Given the description of an element on the screen output the (x, y) to click on. 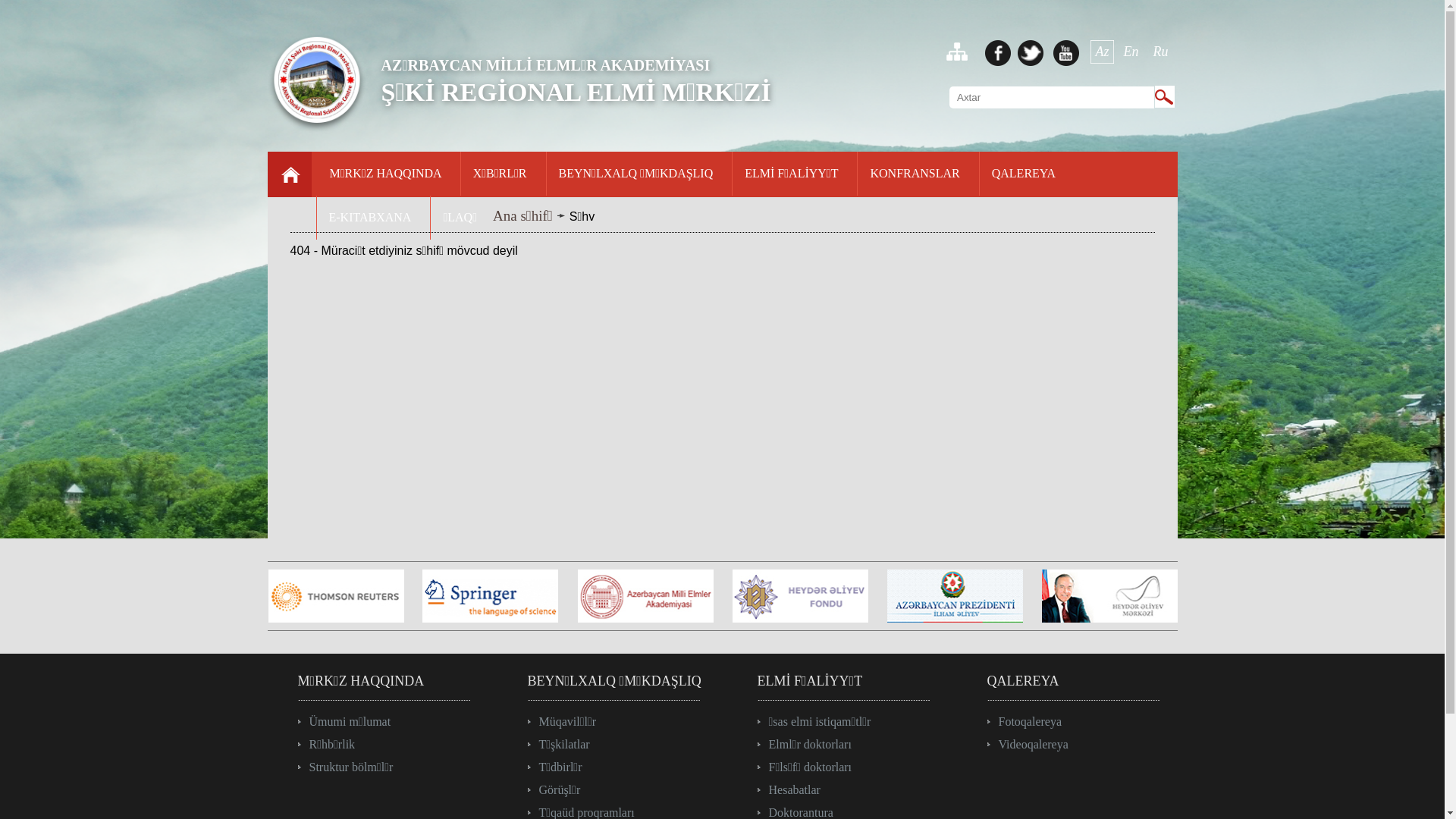
Az Element type: text (1102, 51)
E-KITABXANA Element type: text (370, 220)
Hesabatlar Element type: text (787, 789)
Ru Element type: text (1160, 51)
Fotoqalereya Element type: text (1024, 721)
KONFRANSLAR Element type: text (914, 176)
En Element type: text (1130, 51)
Videoqalereya Element type: text (1027, 743)
QALEREYA Element type: text (1023, 176)
QALEREYA Element type: text (1023, 680)
